Given the description of an element on the screen output the (x, y) to click on. 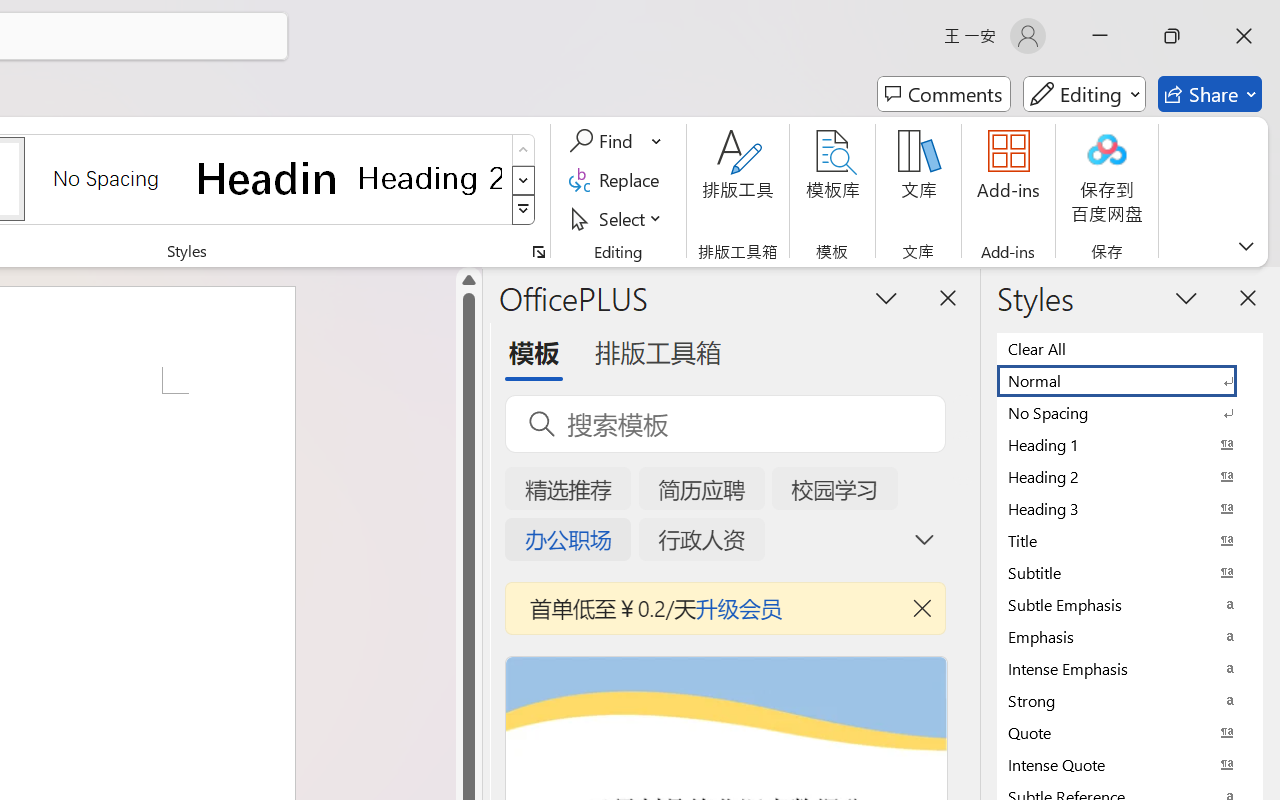
Normal (1130, 380)
Row Down (523, 180)
Comments (943, 94)
Clear All (1130, 348)
Select (618, 218)
Strong (1130, 700)
Subtitle (1130, 572)
Intense Emphasis (1130, 668)
Heading 3 (1130, 508)
